Given the description of an element on the screen output the (x, y) to click on. 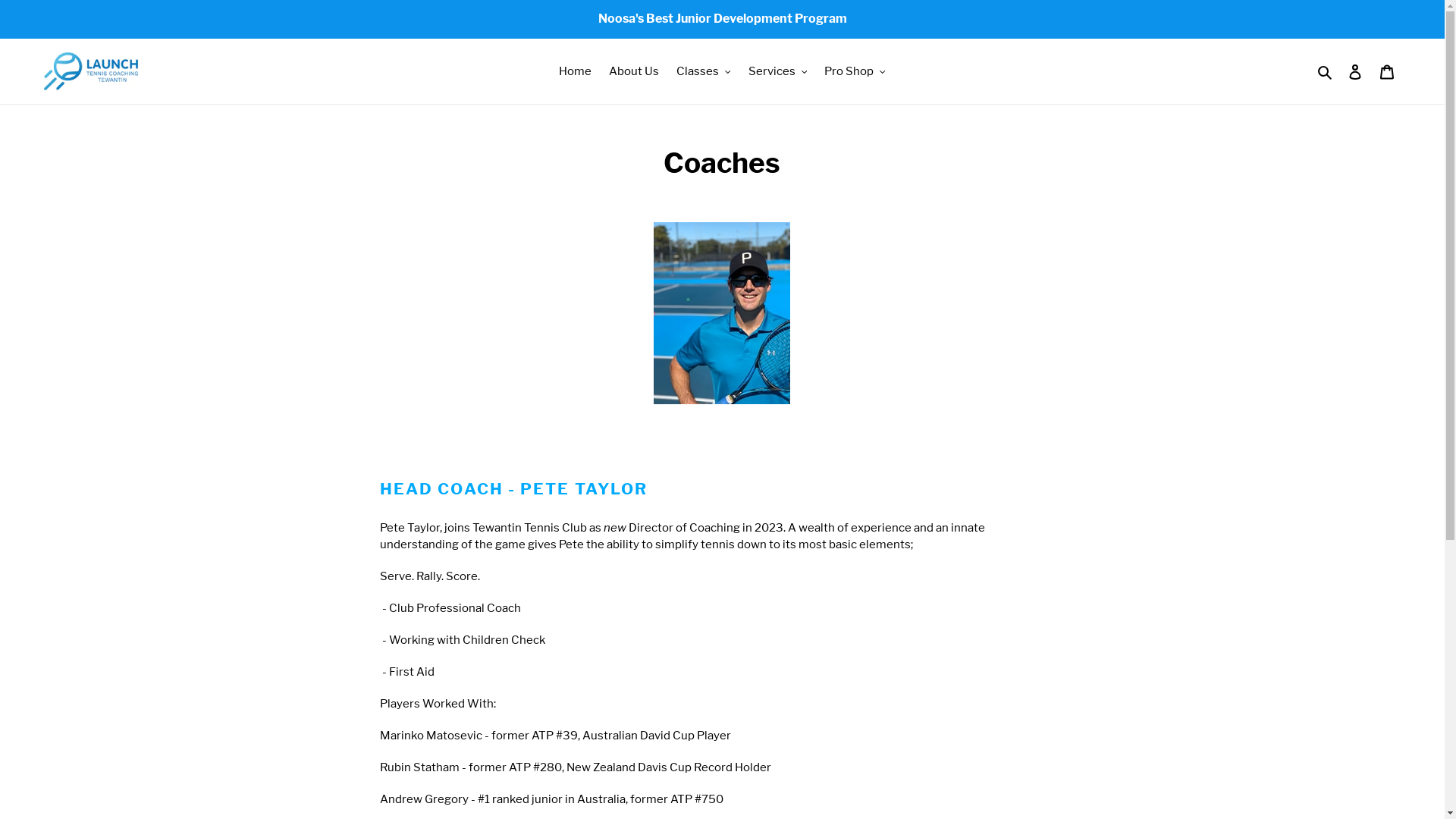
Noosa's Best Junior Development Program Element type: text (722, 18)
Cart Element type: text (1386, 71)
Log in Element type: text (1355, 71)
Pro Shop Element type: text (854, 71)
Services Element type: text (777, 71)
Classes Element type: text (703, 71)
Search Element type: text (1325, 71)
Home Element type: text (575, 71)
About Us Element type: text (633, 71)
